Given the description of an element on the screen output the (x, y) to click on. 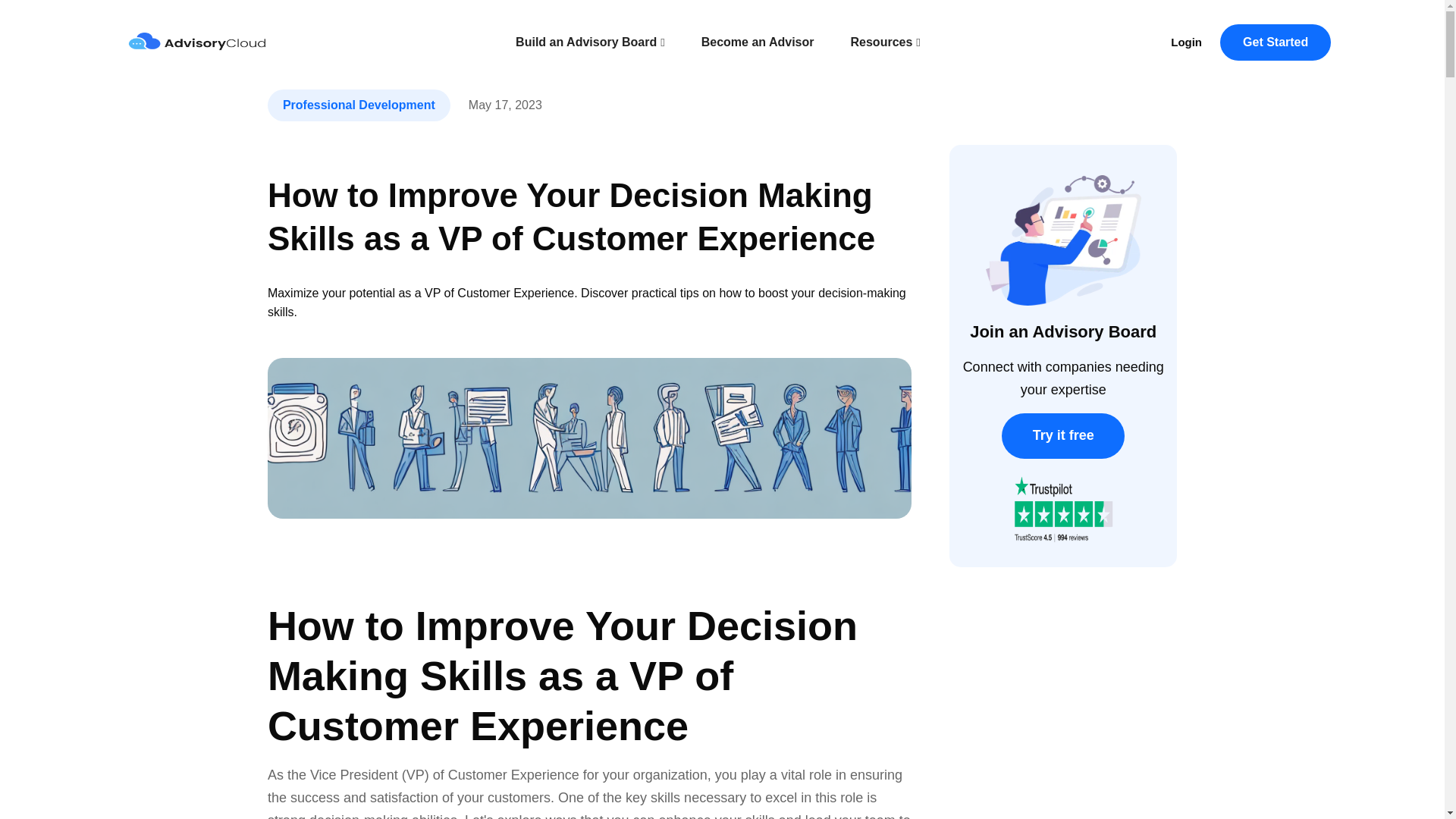
Become an Advisor (757, 42)
